Given the description of an element on the screen output the (x, y) to click on. 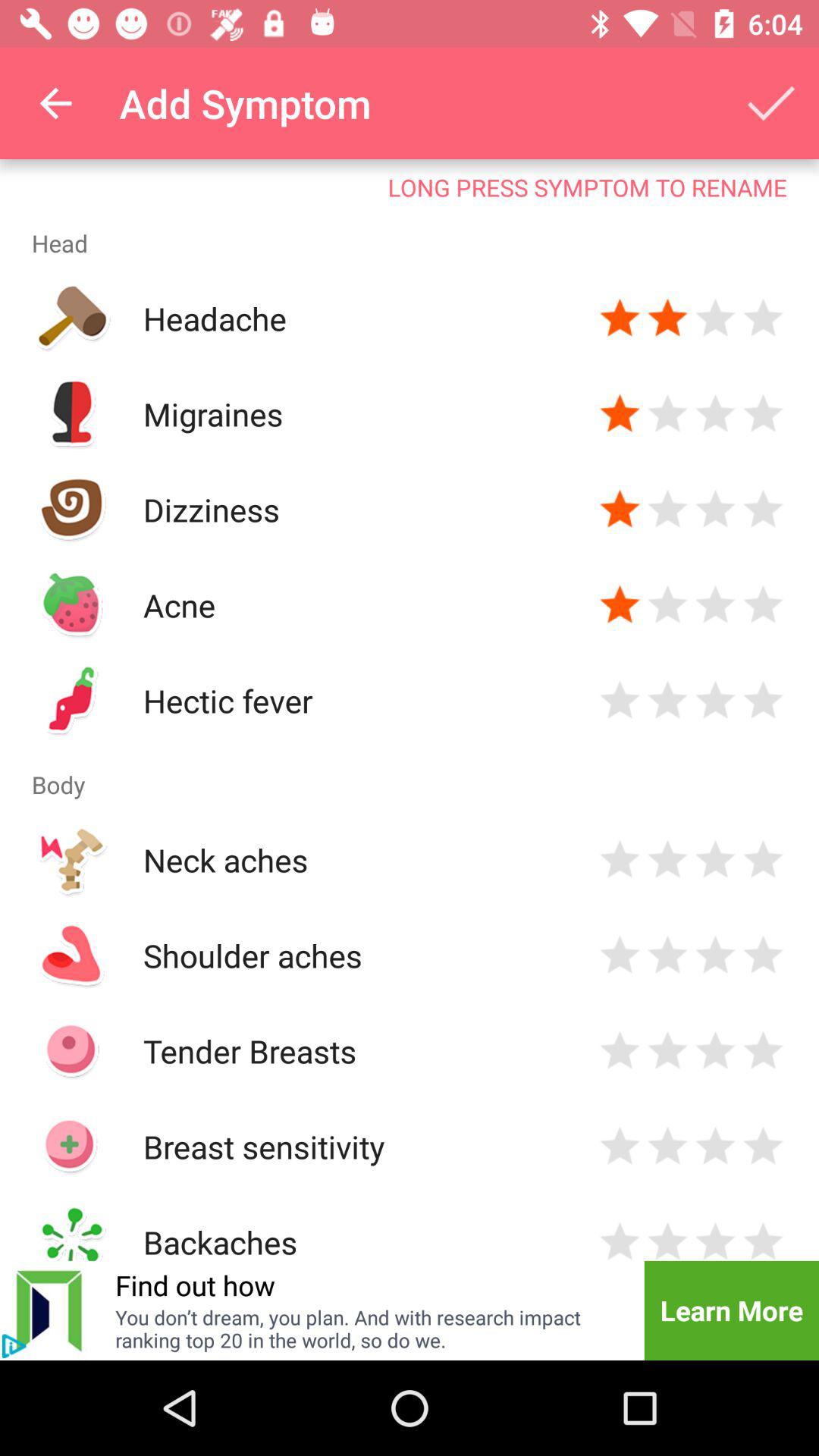
rate 2 stars (667, 859)
